Given the description of an element on the screen output the (x, y) to click on. 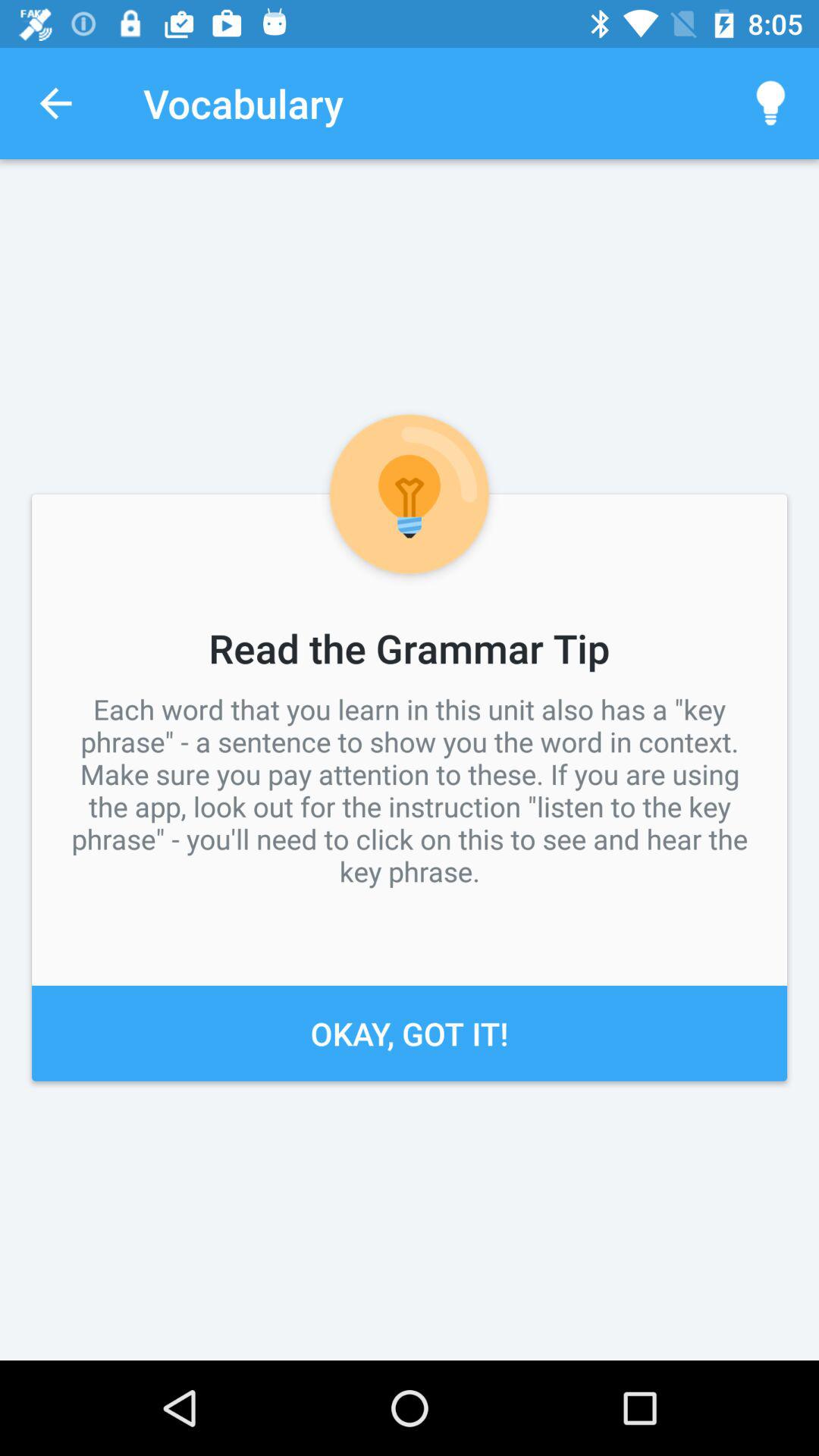
turn off icon next to the vocabulary icon (55, 103)
